Given the description of an element on the screen output the (x, y) to click on. 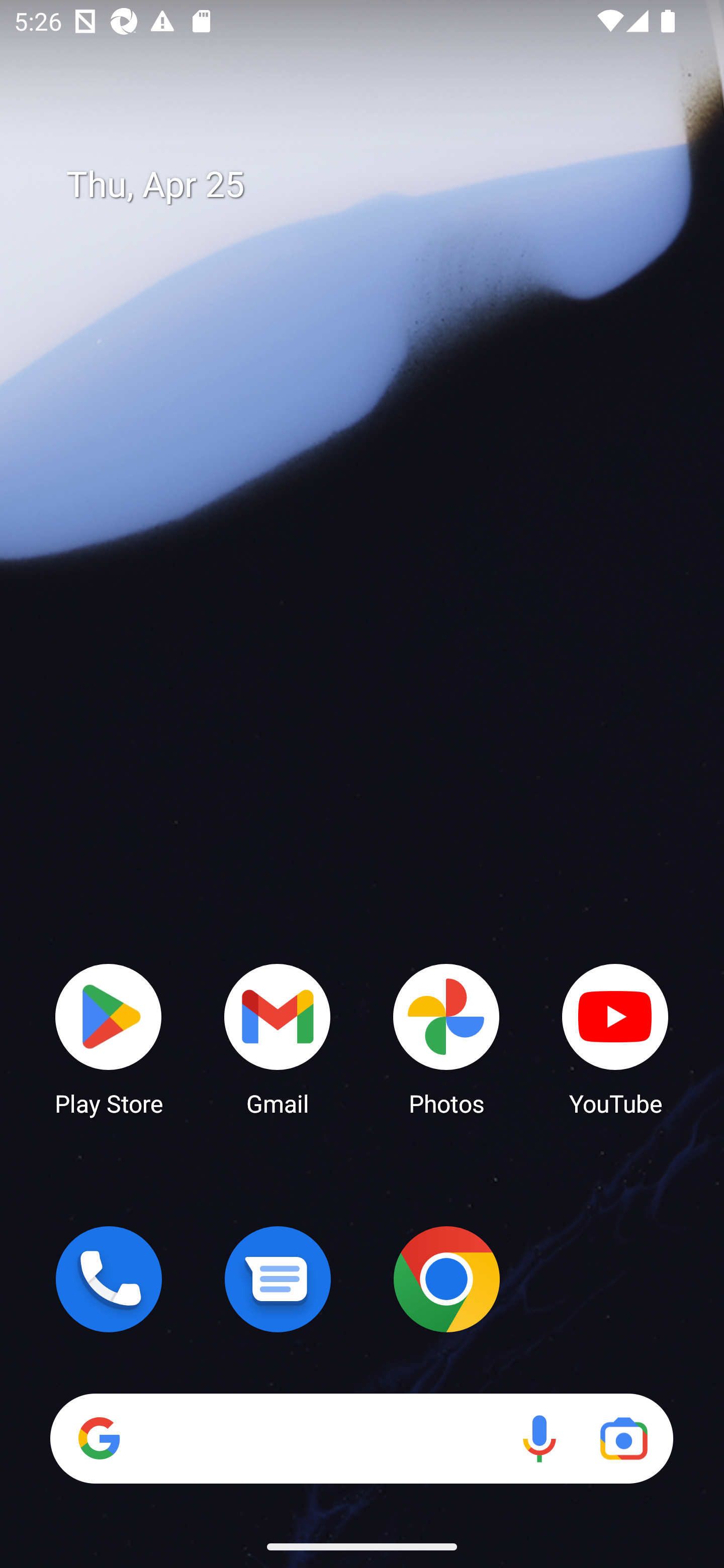
Thu, Apr 25 (375, 184)
Play Store (108, 1038)
Gmail (277, 1038)
Photos (445, 1038)
YouTube (615, 1038)
Phone (108, 1279)
Messages (277, 1279)
Chrome (446, 1279)
Search Voice search Google Lens (361, 1438)
Voice search (539, 1438)
Google Lens (623, 1438)
